Given the description of an element on the screen output the (x, y) to click on. 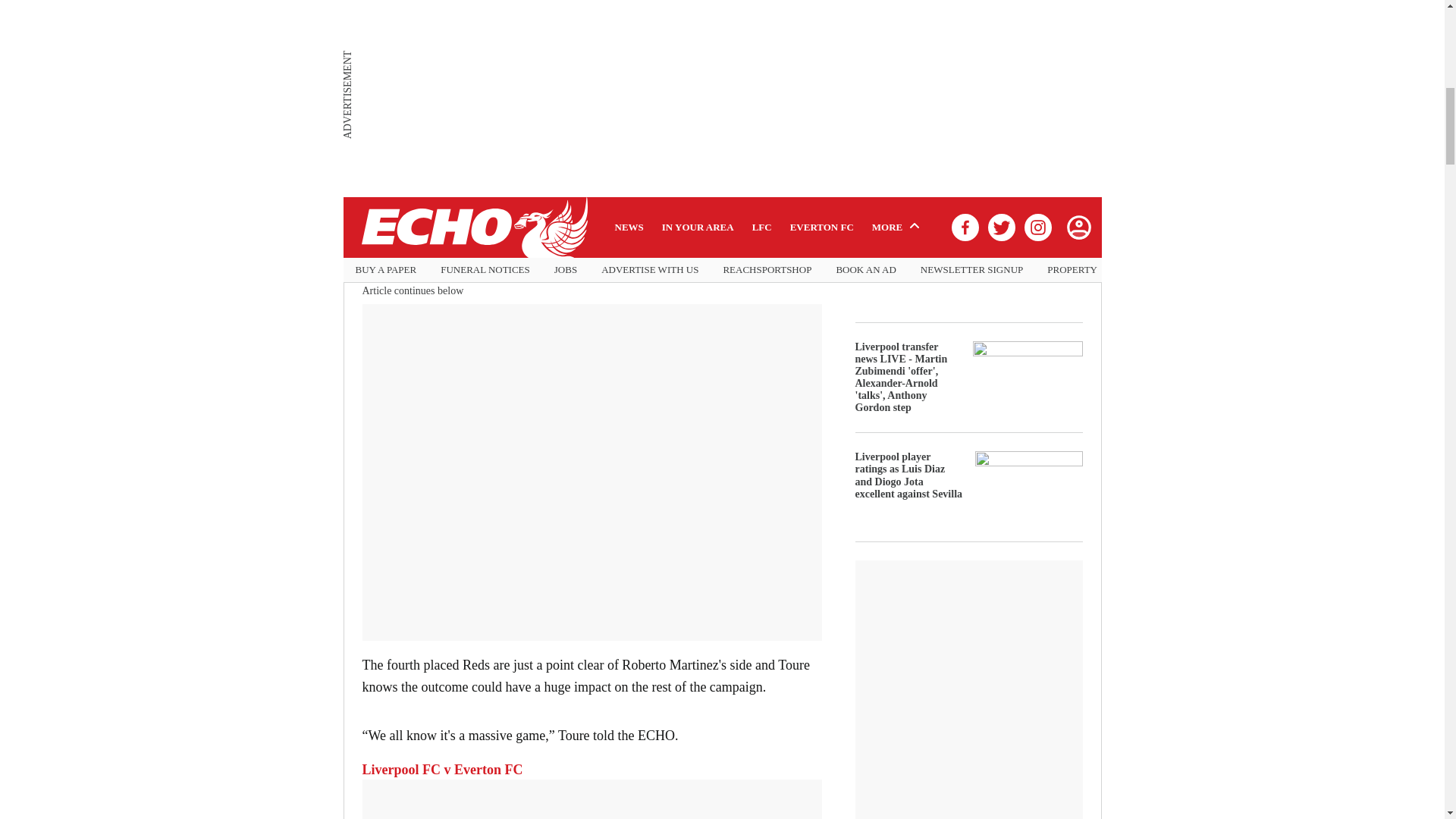
Merseyside derby (413, 251)
Liverpool FC v Everton FC (442, 769)
Kolo Toure (527, 159)
Liverpool FC (401, 159)
